Given the description of an element on the screen output the (x, y) to click on. 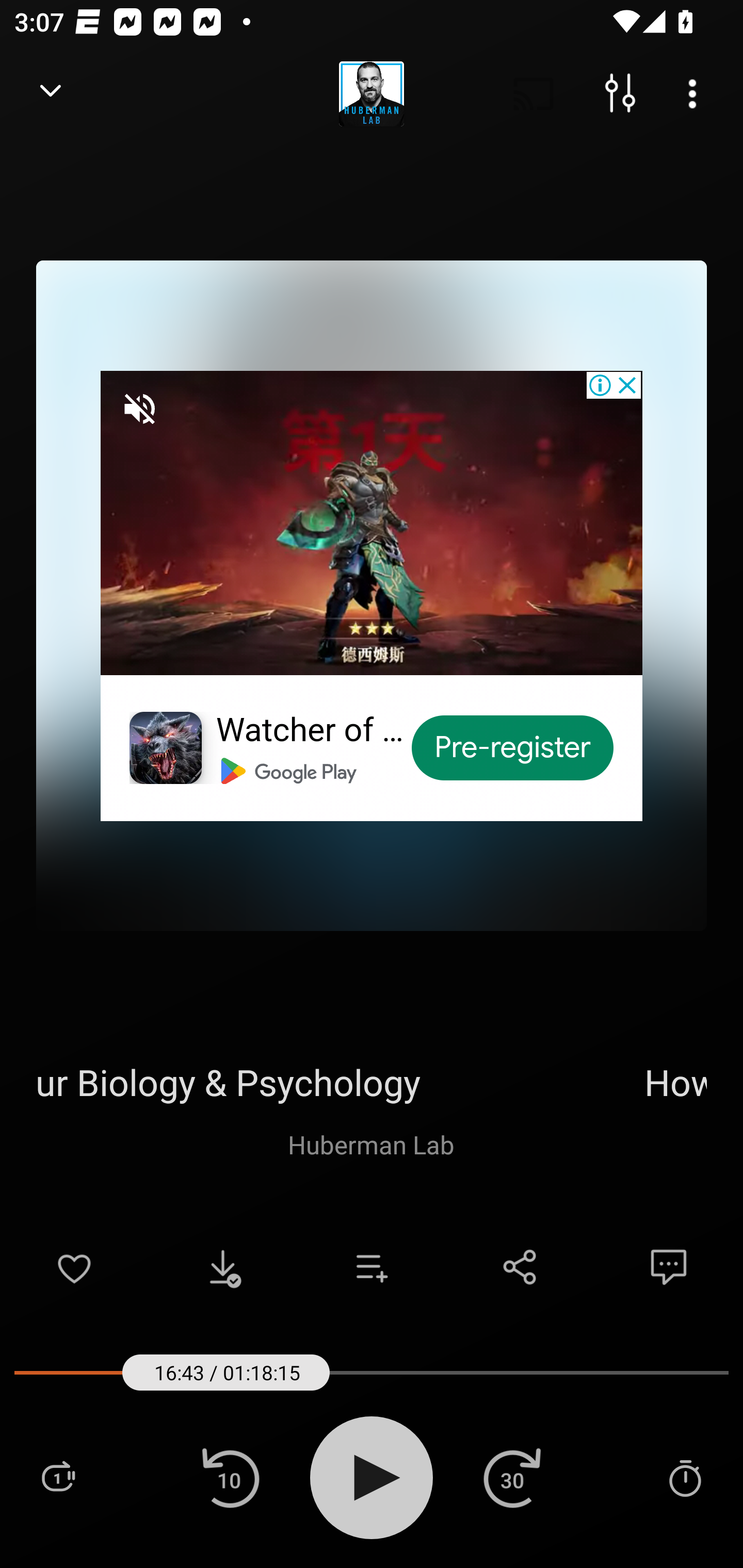
 Back (50, 94)
Watcher of … Pre-register Pre-register (371, 595)
Pre-register (512, 747)
Huberman Lab (370, 1144)
Comments (668, 1266)
Add to Favorites (73, 1266)
Add to playlist (371, 1266)
Share (519, 1266)
 Playlist (57, 1477)
Sleep Timer  (684, 1477)
